Given the description of an element on the screen output the (x, y) to click on. 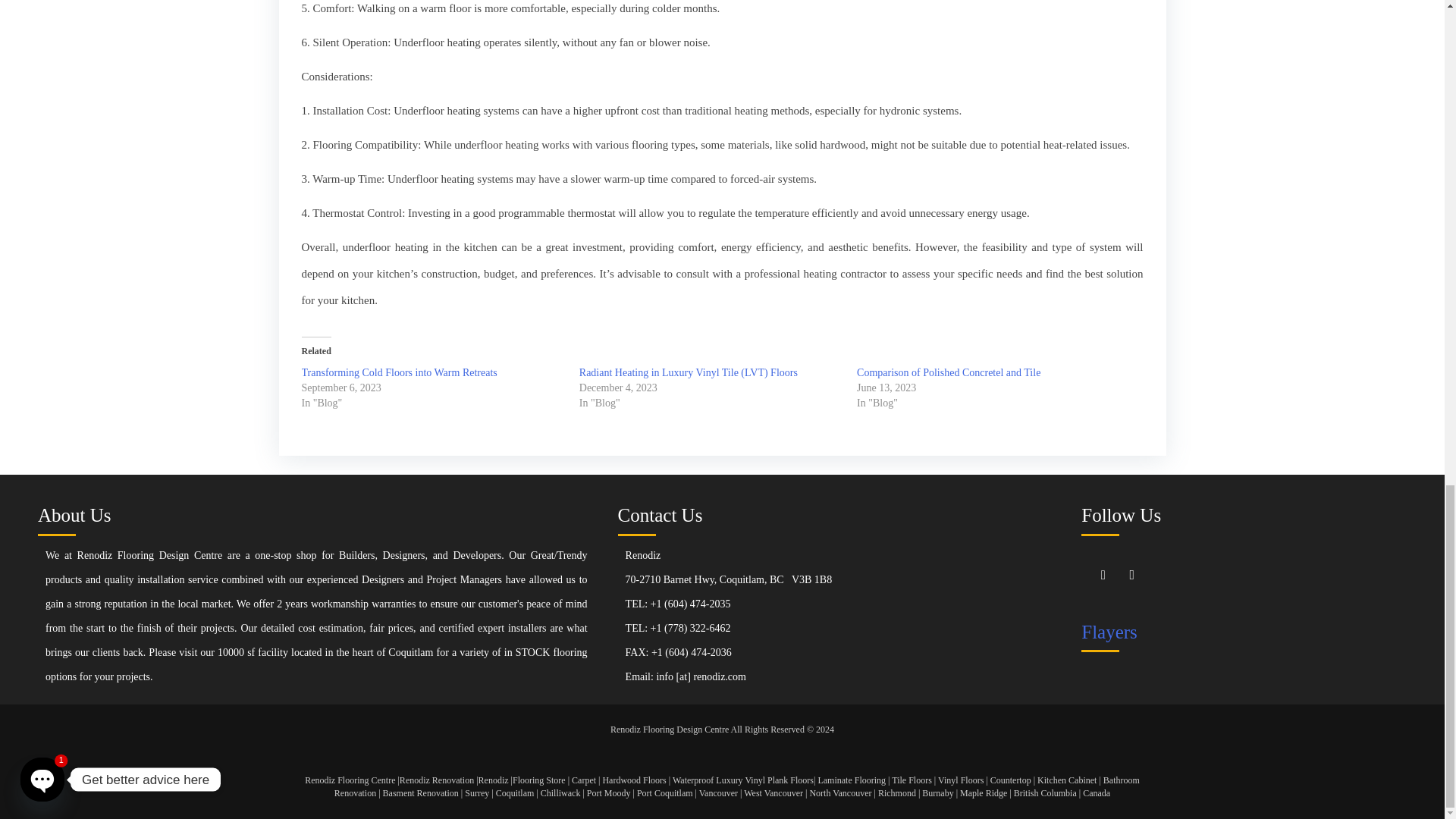
Comparison of Polished Concretel and Tile (949, 372)
Transforming Cold Floors into Warm Retreats (399, 372)
Transforming Cold Floors into Warm Retreats (399, 372)
Comparison of Polished Concretel and Tile (949, 372)
